Given the description of an element on the screen output the (x, y) to click on. 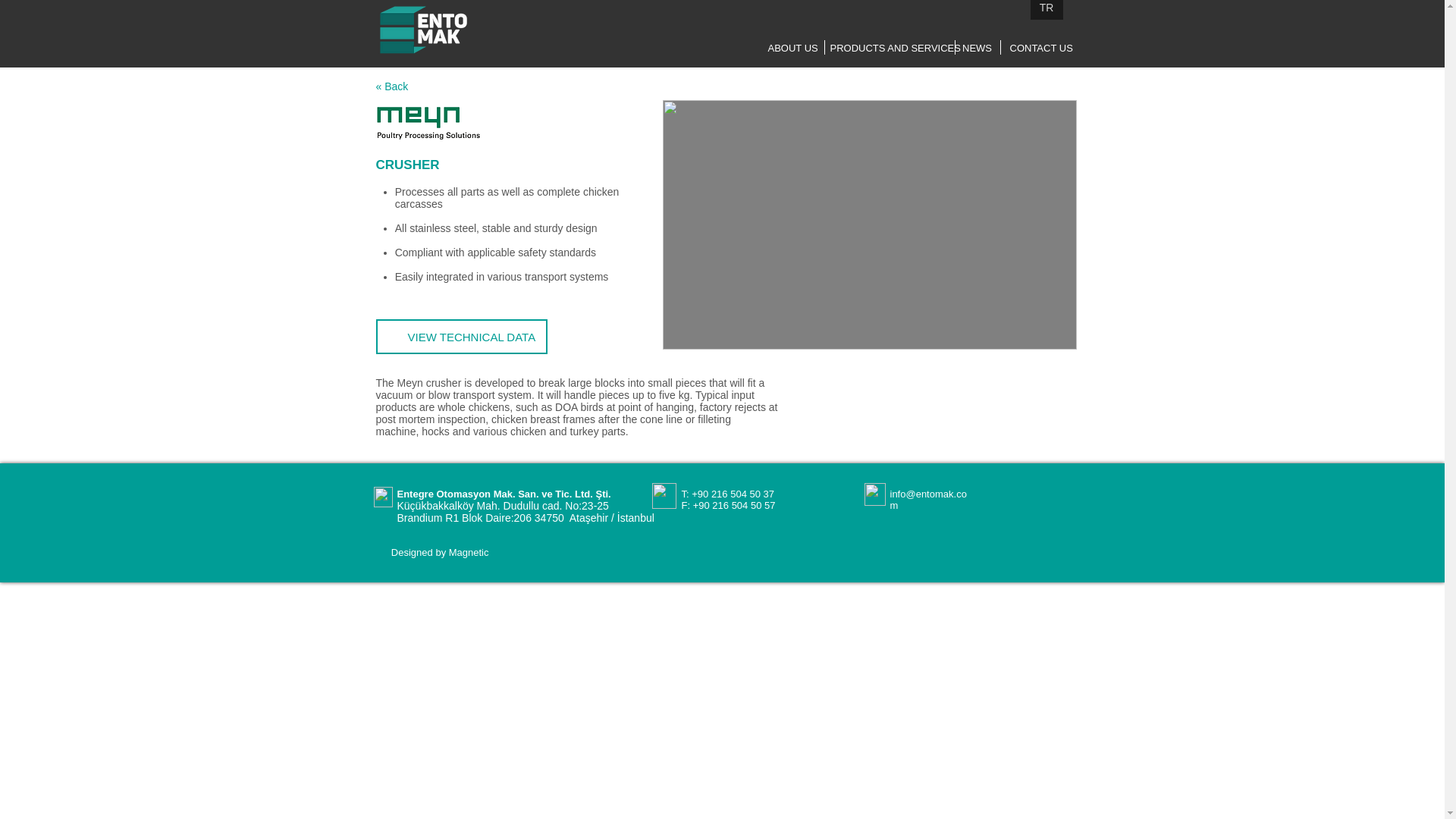
ABOUT US (791, 47)
PRODUCTS AND SERVICES (894, 48)
CONTACT US (1041, 47)
Magnetic (468, 552)
TR (1045, 9)
VIEW TECHNICAL DATA (461, 336)
NEWS (977, 47)
